Given the description of an element on the screen output the (x, y) to click on. 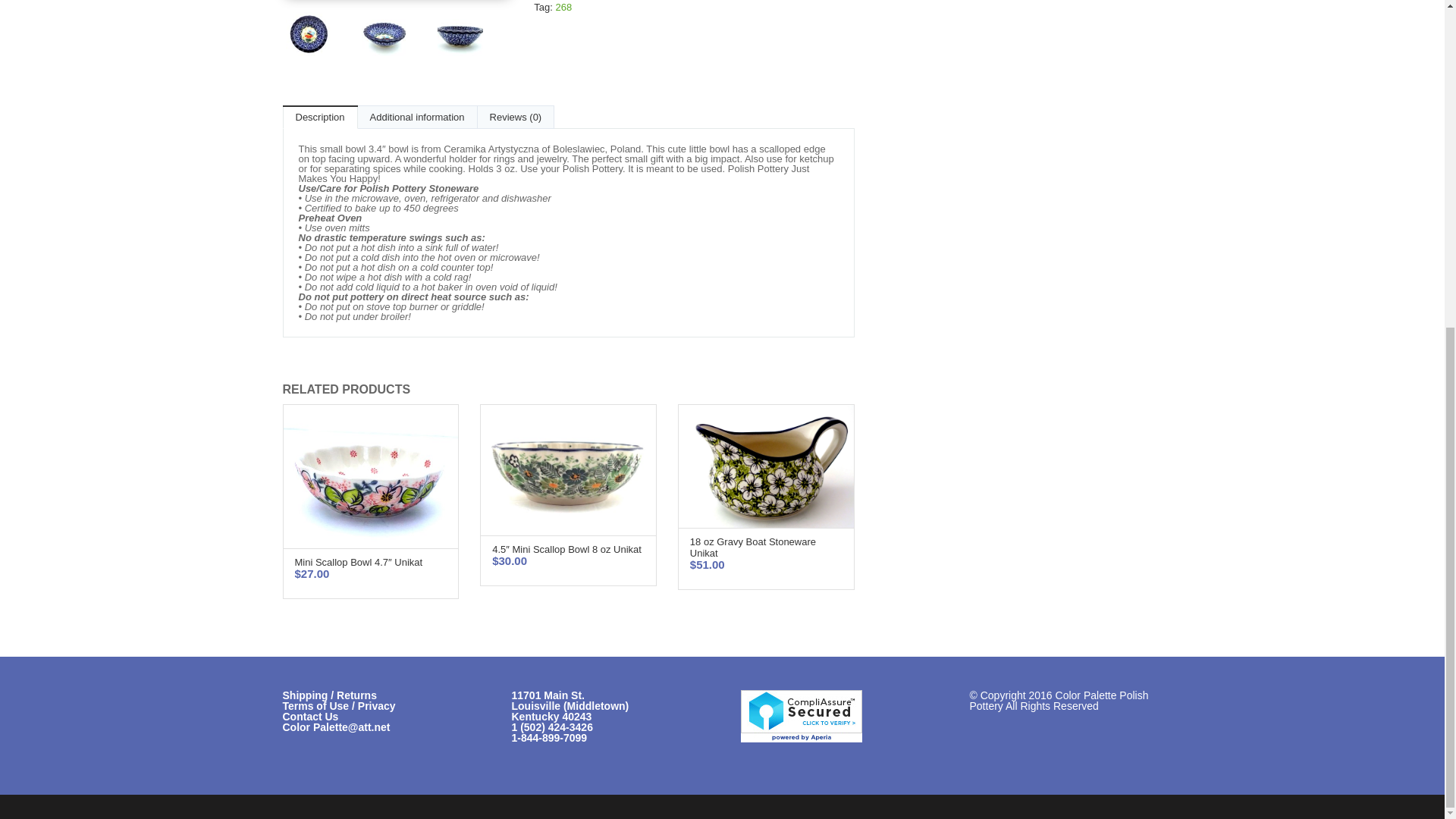
Polish Pottery 3.4 inch top scallop mini bowl (319, 36)
Polish Pottery 3.4 inch top scallop mini bowl 2 (395, 36)
CA 3.4 inch top scallop mini bowl 24 (471, 36)
